Given the description of an element on the screen output the (x, y) to click on. 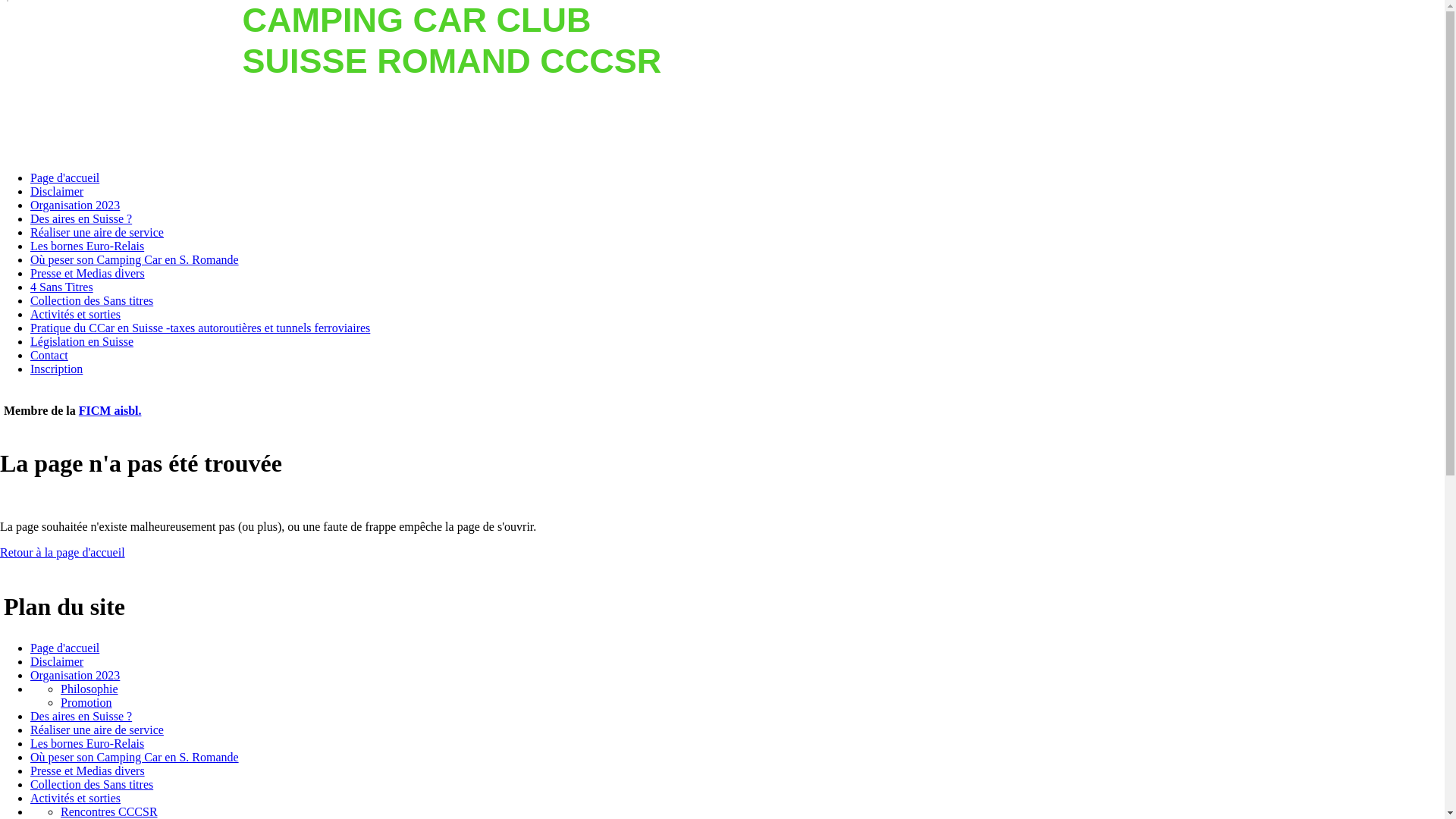
Presse et Medias divers Element type: text (87, 770)
Page d'accueil Element type: text (64, 647)
Organisation 2023 Element type: text (74, 674)
Promotion Element type: text (86, 702)
Des aires en Suisse ? Element type: text (80, 218)
Des aires en Suisse ? Element type: text (80, 715)
Les bornes Euro-Relais Element type: text (87, 245)
Disclaimer Element type: text (56, 661)
Organisation 2023 Element type: text (74, 204)
Disclaimer Element type: text (56, 191)
Contact Element type: text (49, 354)
4 Sans Titres Element type: text (61, 286)
Philosophie Element type: text (89, 688)
Les bornes Euro-Relais Element type: text (87, 743)
FICM aisbl. Element type: text (109, 410)
Inscription Element type: text (56, 368)
Collection des Sans titres Element type: text (91, 300)
Page d'accueil Element type: text (64, 177)
Rencontres CCCSR Element type: text (108, 811)
Presse et Medias divers Element type: text (87, 272)
Collection des Sans titres Element type: text (91, 784)
